Given the description of an element on the screen output the (x, y) to click on. 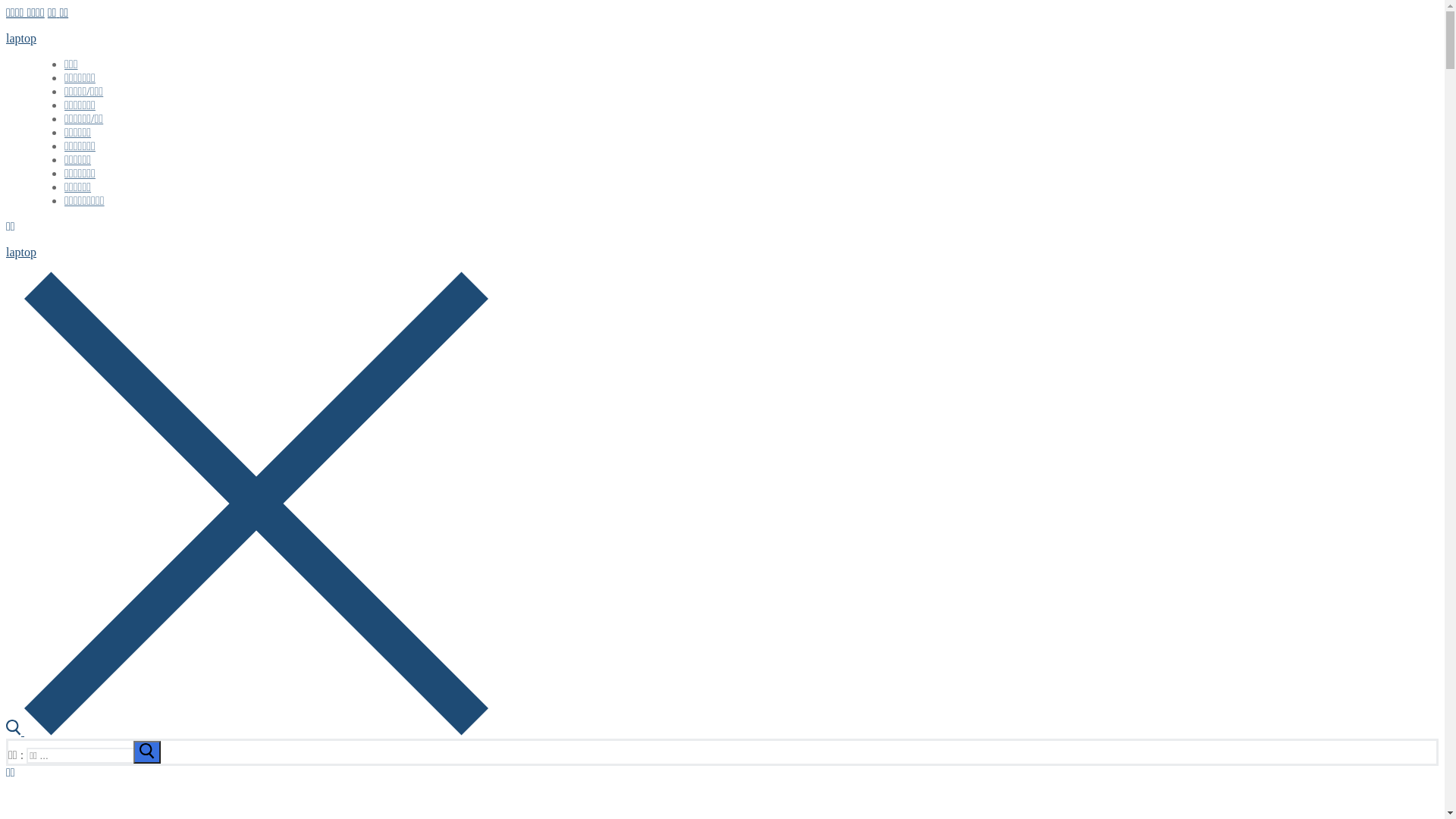
laptop Element type: text (21, 251)
laptop Element type: text (21, 37)
